Given the description of an element on the screen output the (x, y) to click on. 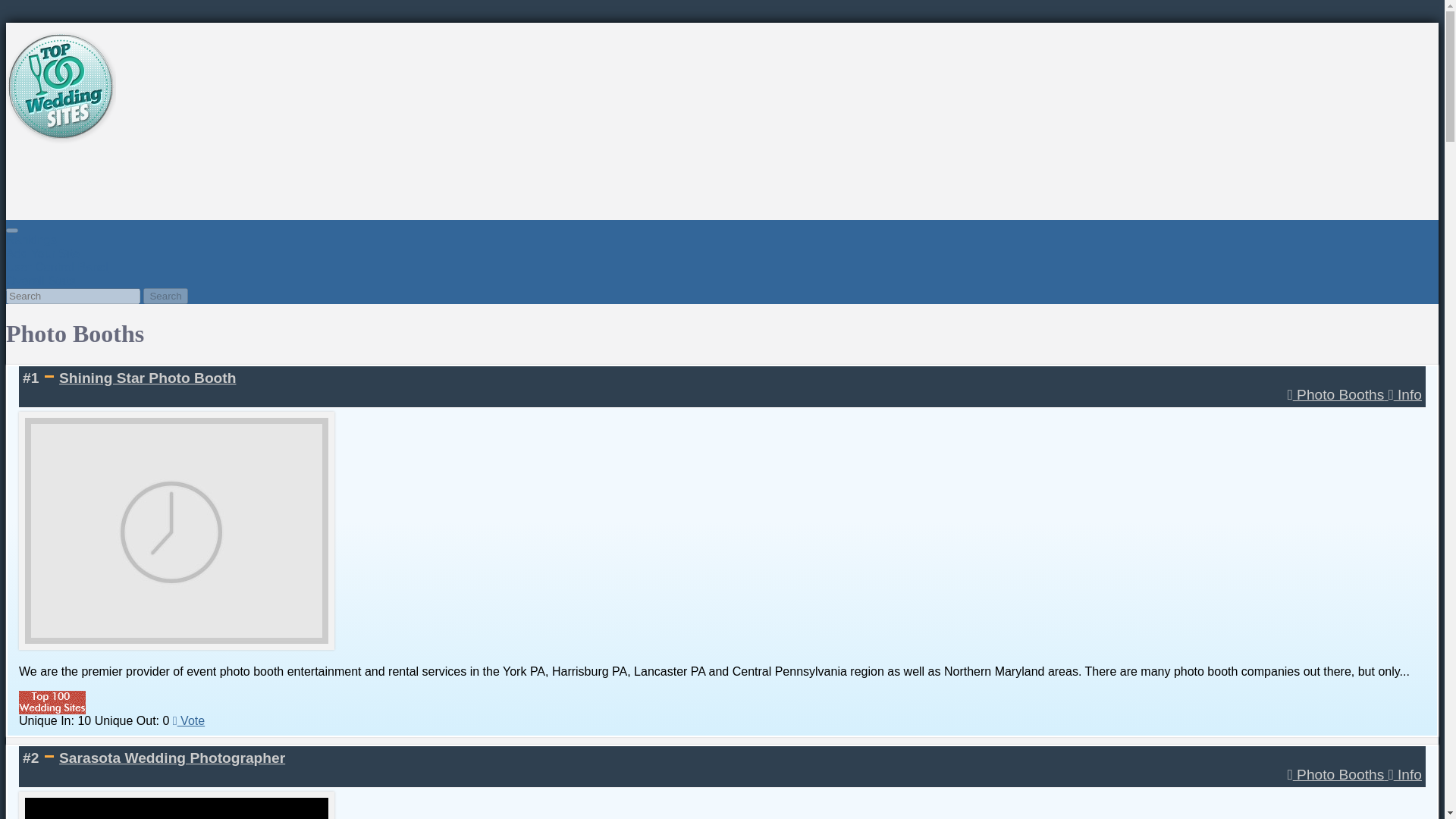
User Control Panel (56, 267)
Vote (189, 720)
Overall Stats (40, 280)
Search (164, 295)
Info (1405, 774)
Rankings (30, 239)
Sarasota Wedding Photographer (172, 757)
Photo Booths (1338, 394)
Photo Booths (1338, 774)
Info (1405, 394)
Shining Star Photo Booth (147, 377)
Shining Star Photo Booth (147, 377)
Sarasota Wedding Photographer (172, 757)
Add Your Site (42, 253)
